Given the description of an element on the screen output the (x, y) to click on. 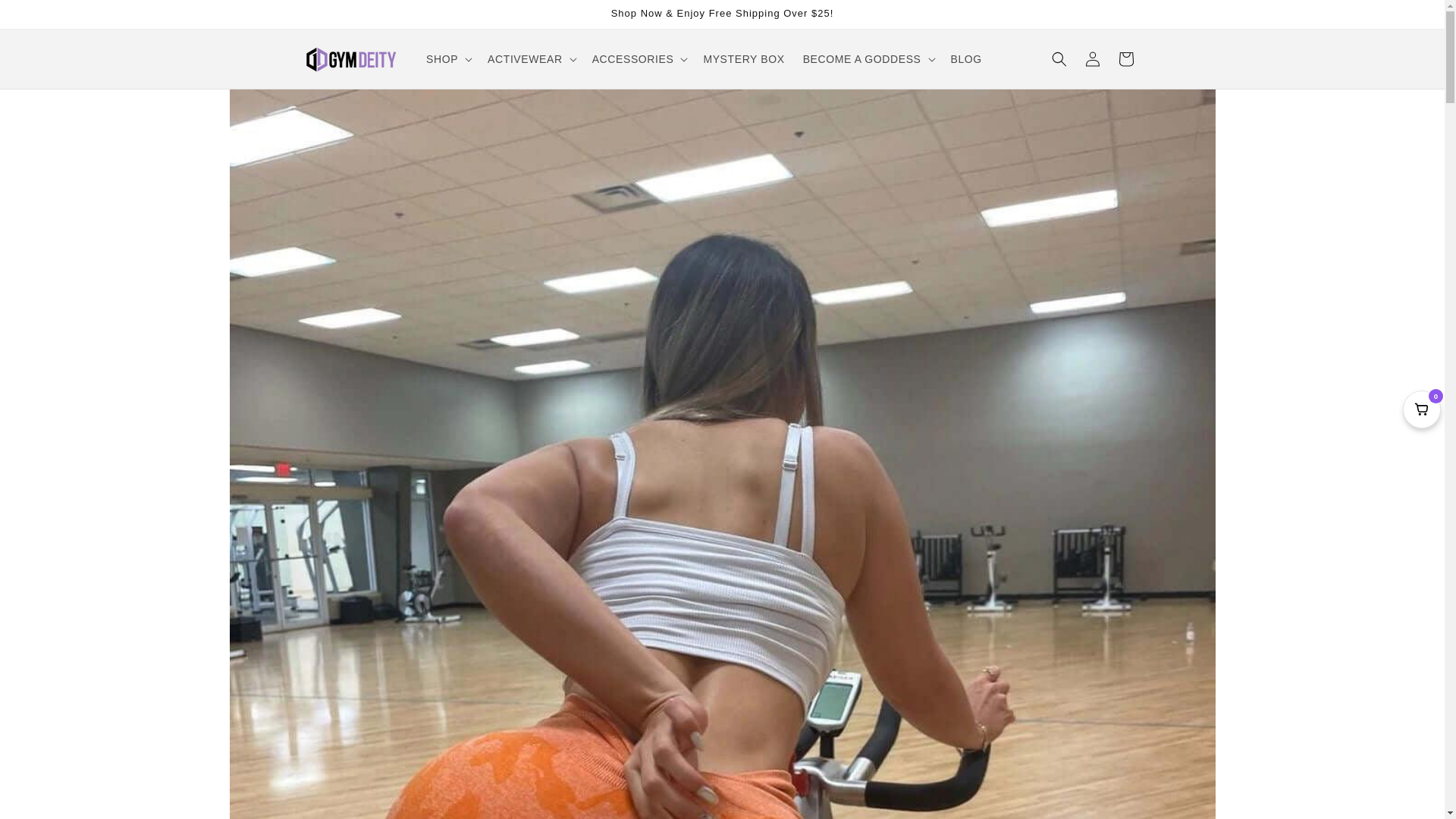
Skip to content (45, 17)
